Given the description of an element on the screen output the (x, y) to click on. 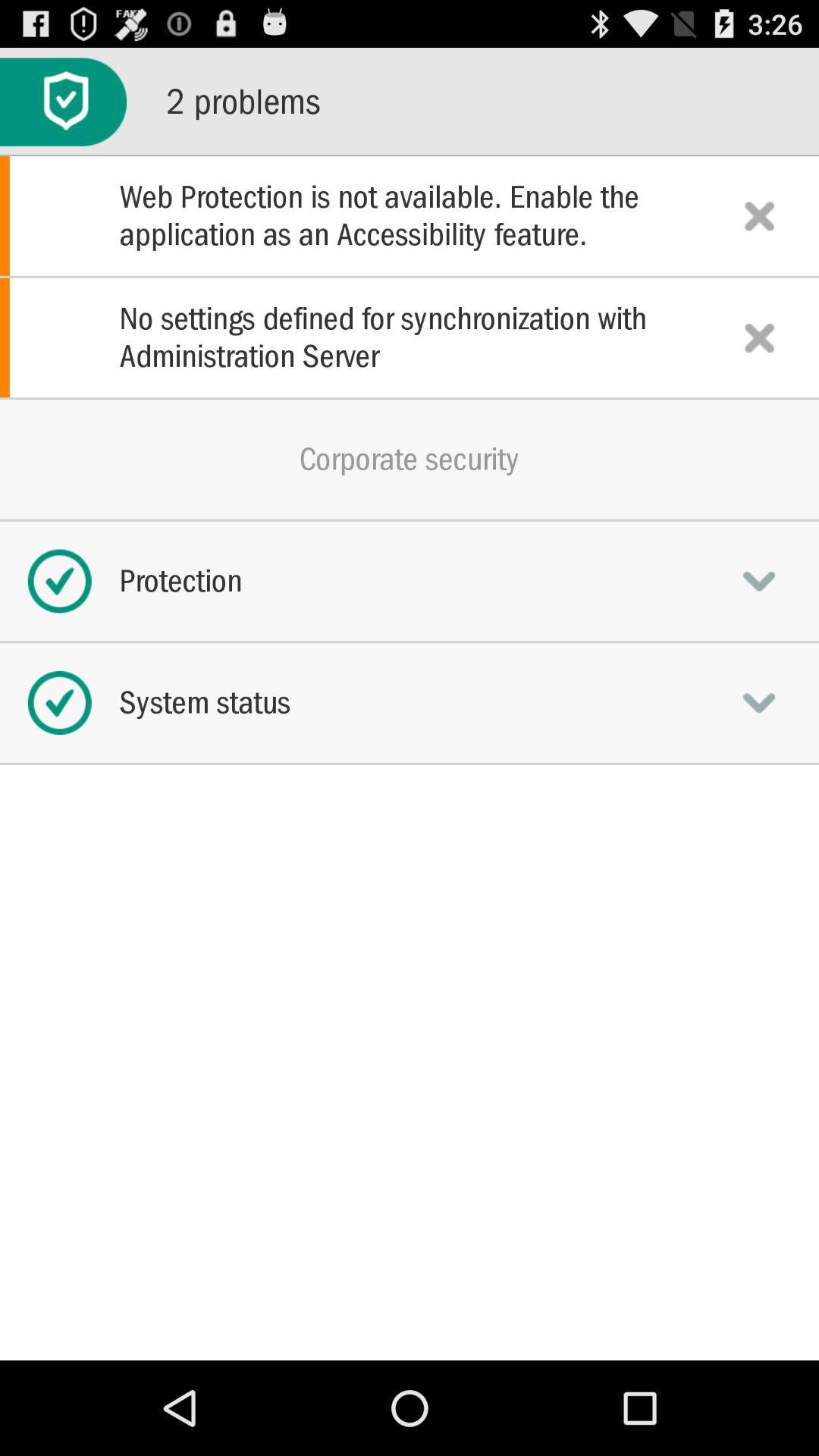
click the app to the left of 2 problems icon (63, 102)
